Given the description of an element on the screen output the (x, y) to click on. 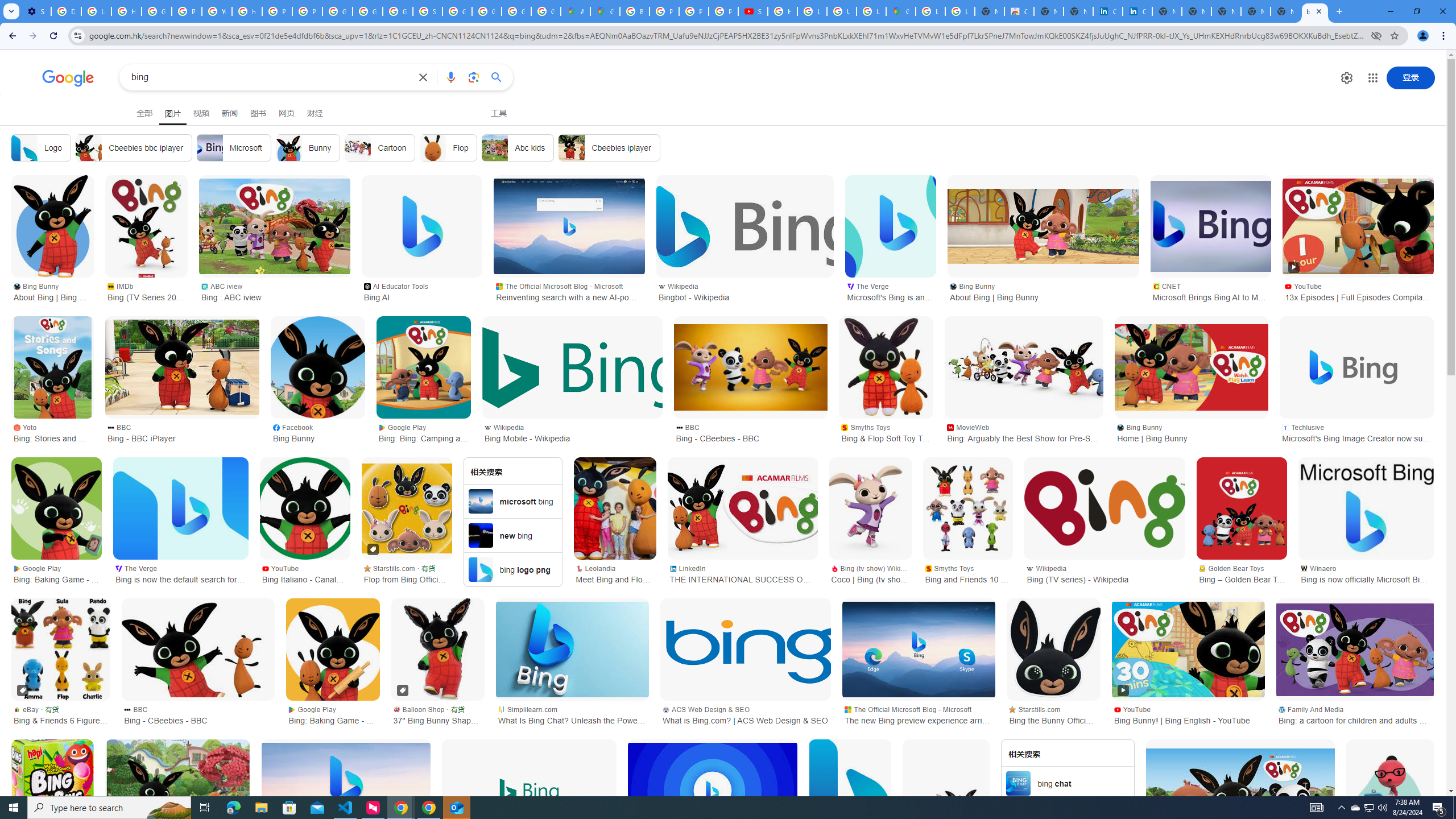
Bing : ABC iview (274, 226)
Bing is now officially Microsoft Bing with a new logo (1366, 508)
What Is Bing Chat? Unleash the Power of GPT-4 With Bing Chat (572, 648)
Bing Bunny! | Bing English - YouTube (1187, 649)
Bing - CBeebies - BBC (198, 648)
Google Maps (900, 11)
LinkedIn THE INTERNATIONAL SUCCESS OF BING (742, 573)
Bing & Flop Soft Toy Twin Pack | Smyths Toys UK (885, 367)
Bing AI (422, 226)
